Given the description of an element on the screen output the (x, y) to click on. 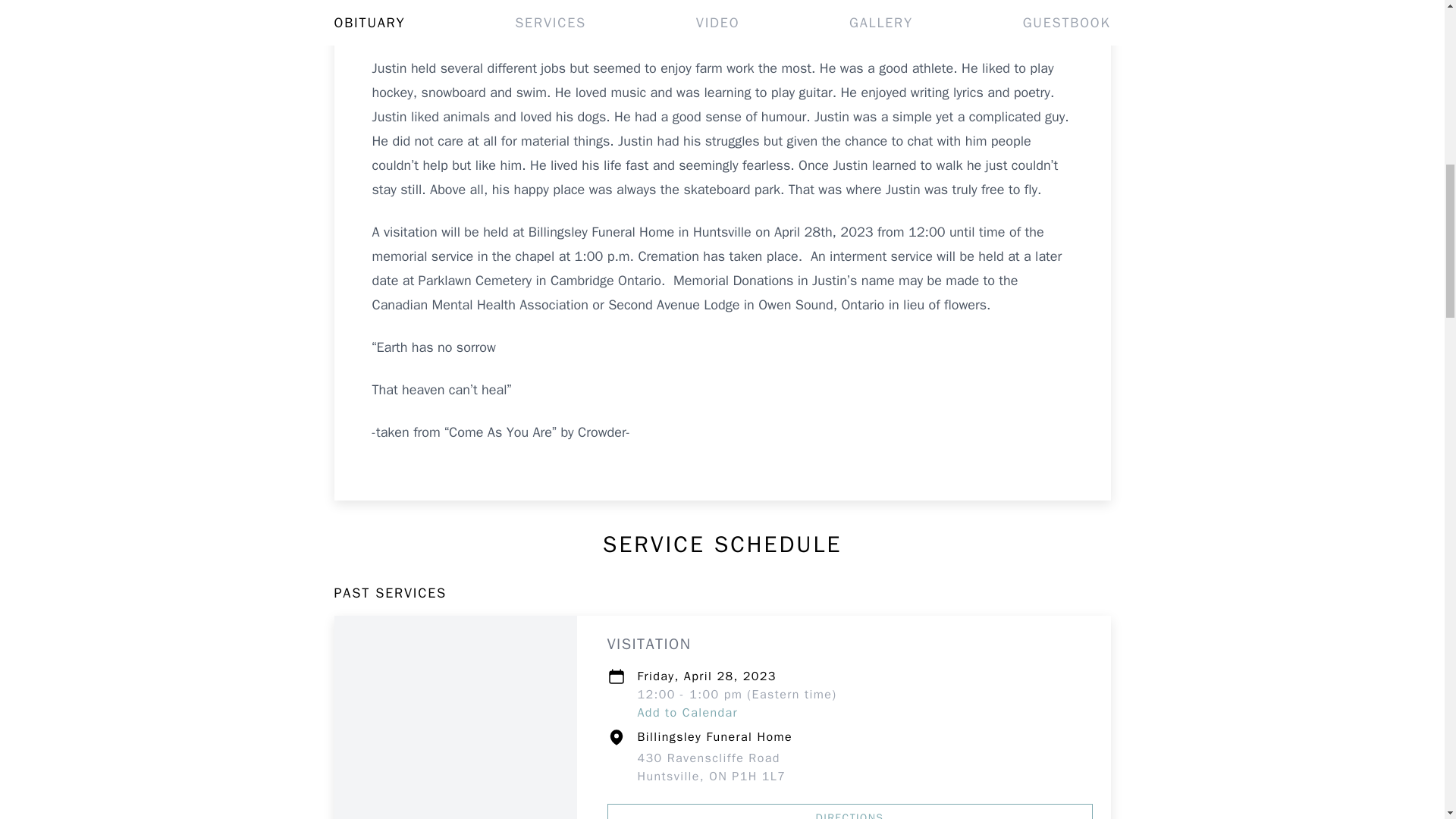
Add to Calendar (687, 712)
DIRECTIONS (711, 767)
